Given the description of an element on the screen output the (x, y) to click on. 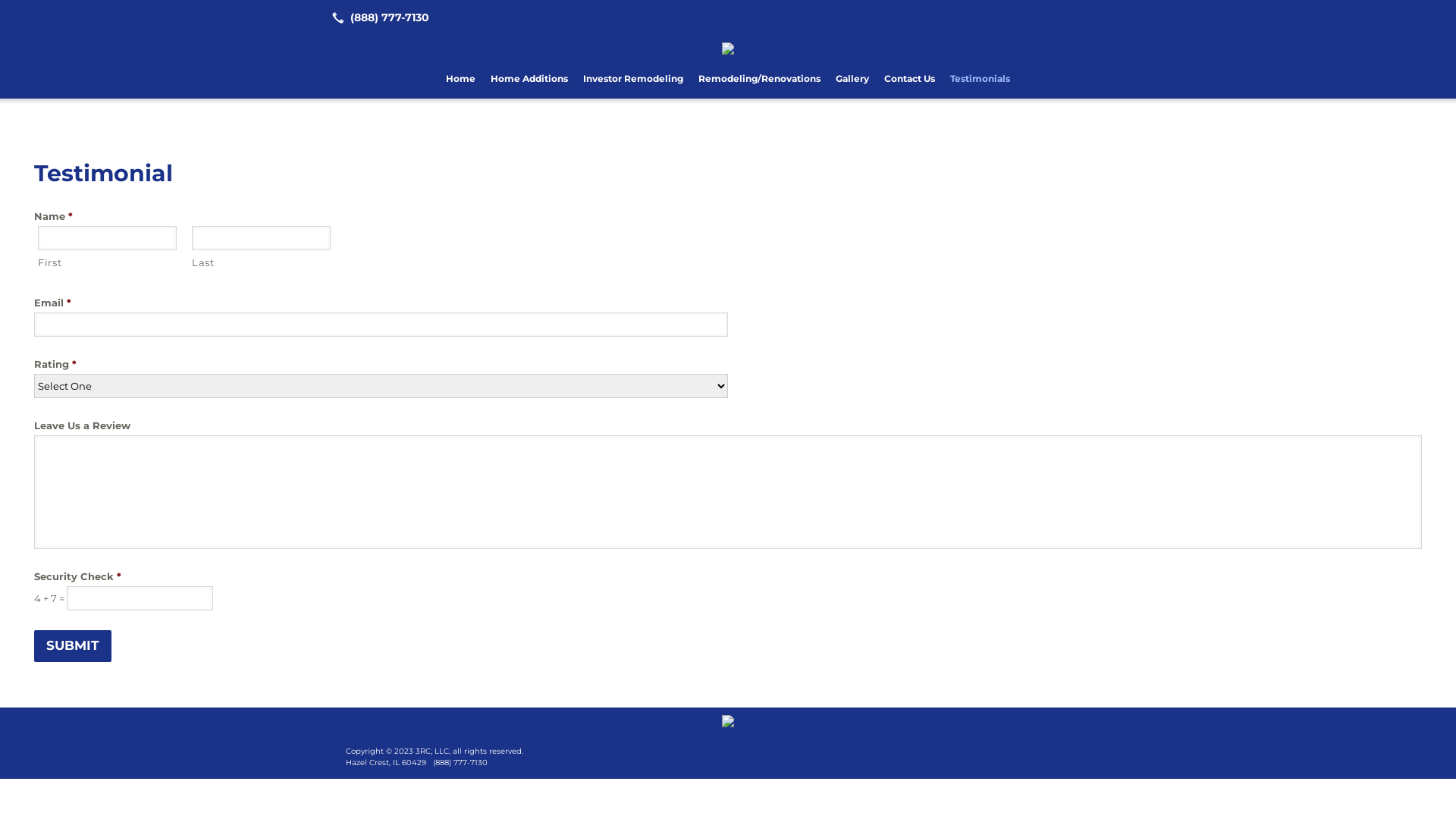
Remodeling/Renovations Element type: text (759, 78)
3RC, LLC Element type: hover (727, 720)
Contact Us Element type: text (909, 78)
Investor Remodeling Element type: text (632, 78)
Testimonials Element type: text (979, 78)
Gallery Element type: text (852, 78)
Home Element type: text (460, 78)
(888) 777-7130 Element type: hover (377, 17)
Home Additions Element type: text (529, 78)
